Given the description of an element on the screen output the (x, y) to click on. 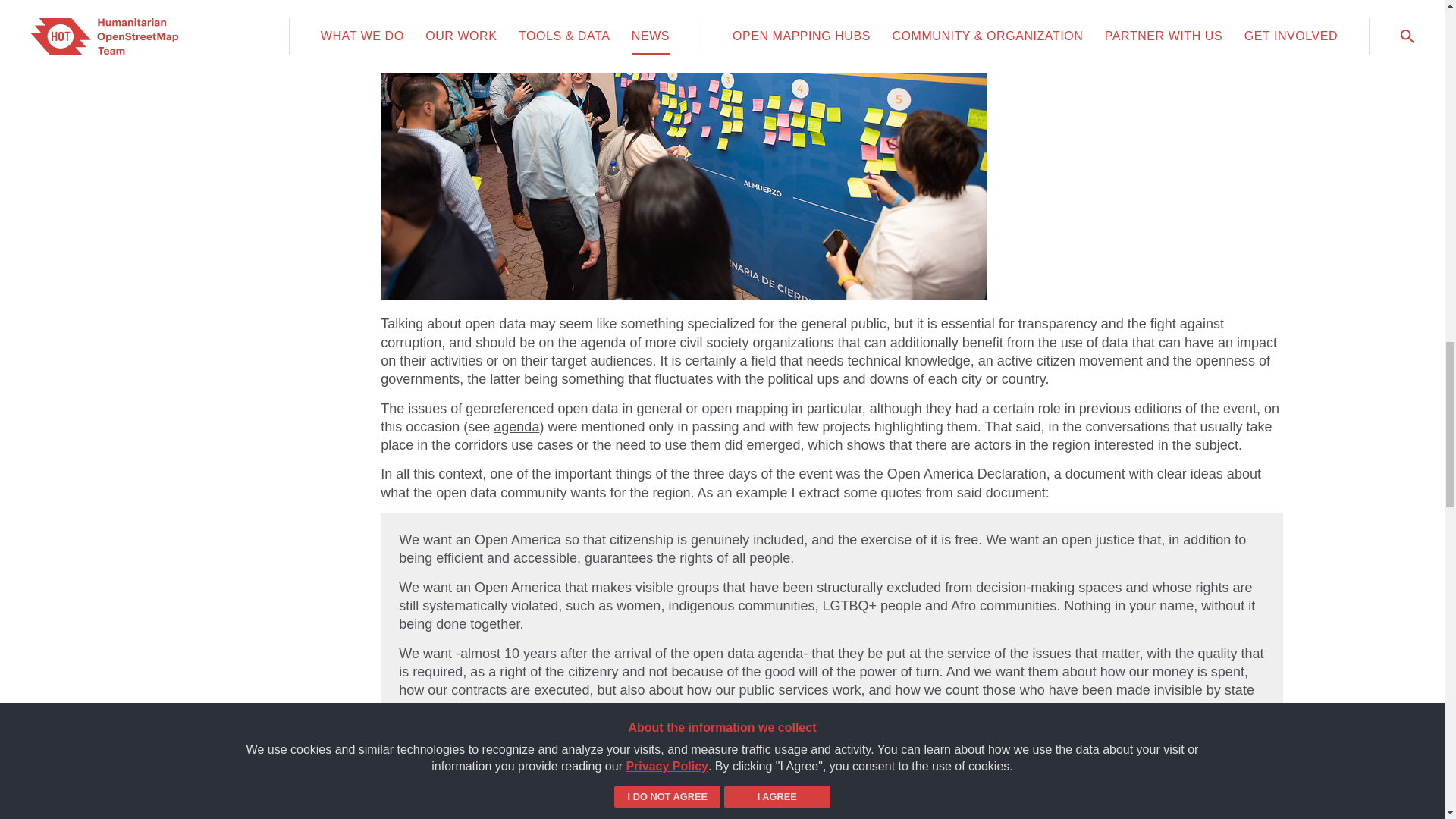
agenda (515, 426)
Open America Declaration (828, 708)
